Given the description of an element on the screen output the (x, y) to click on. 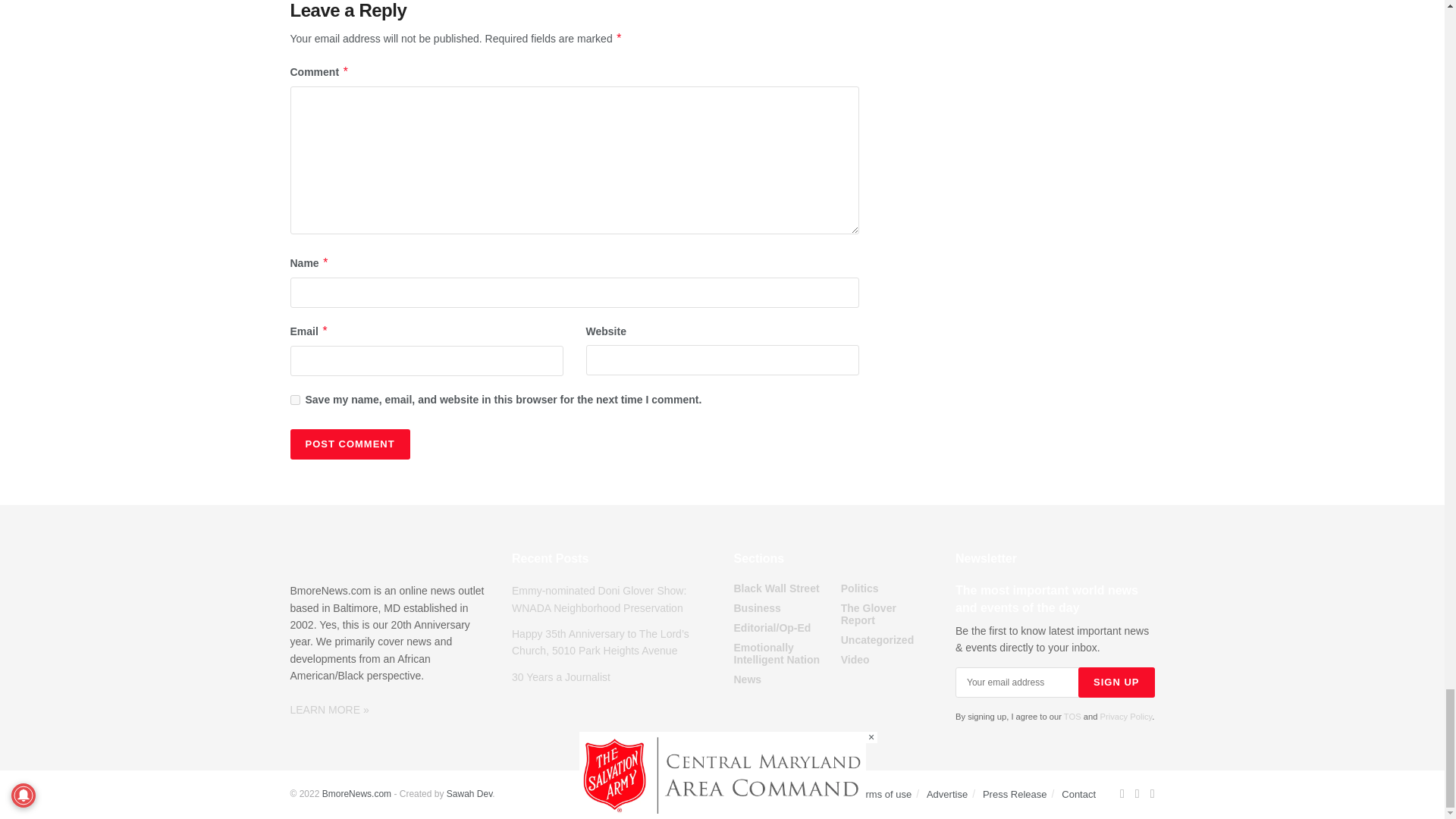
Sign up (1116, 682)
Post Comment (349, 444)
yes (294, 399)
